Given the description of an element on the screen output the (x, y) to click on. 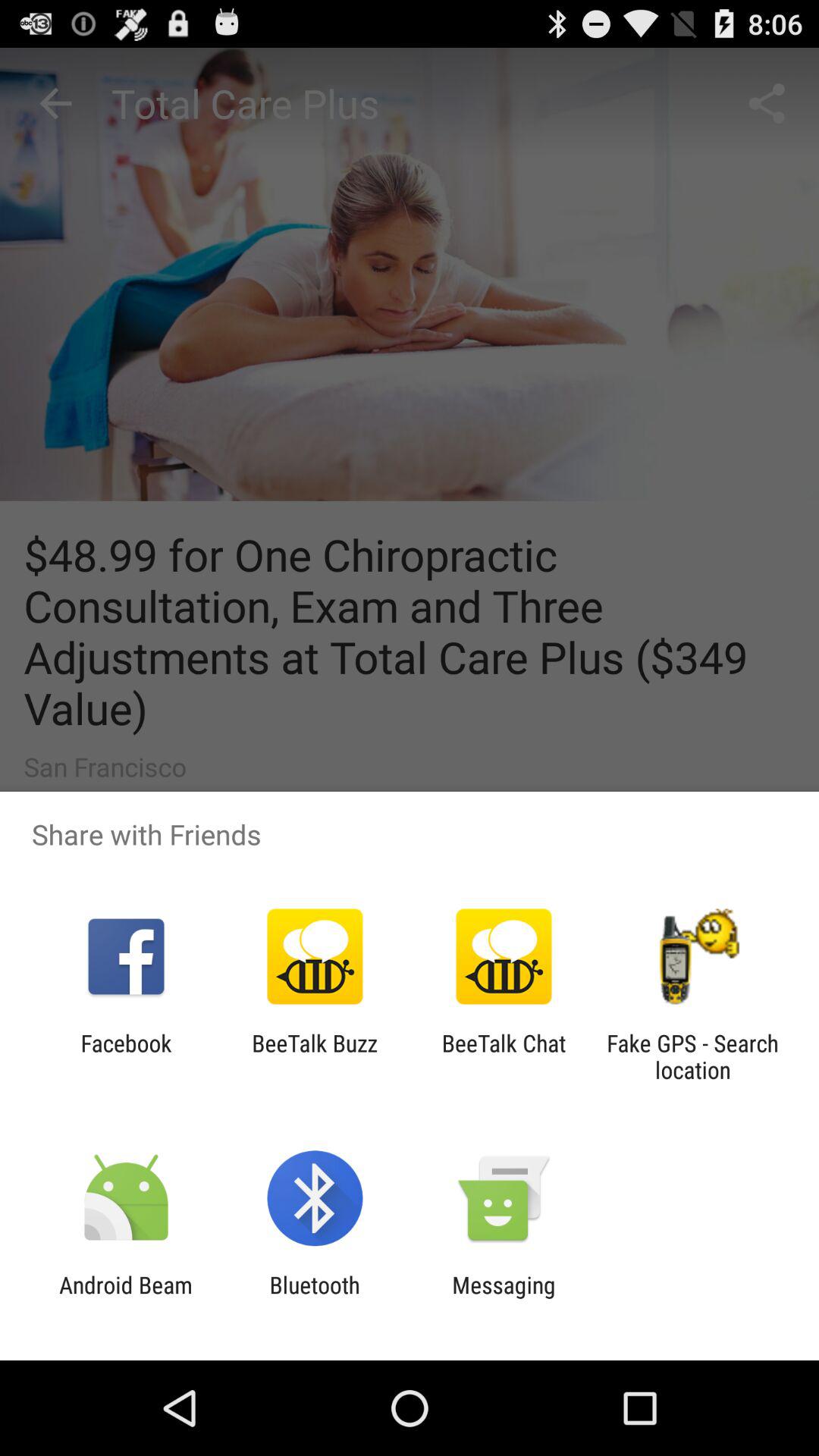
turn on app to the right of the bluetooth app (503, 1298)
